Given the description of an element on the screen output the (x, y) to click on. 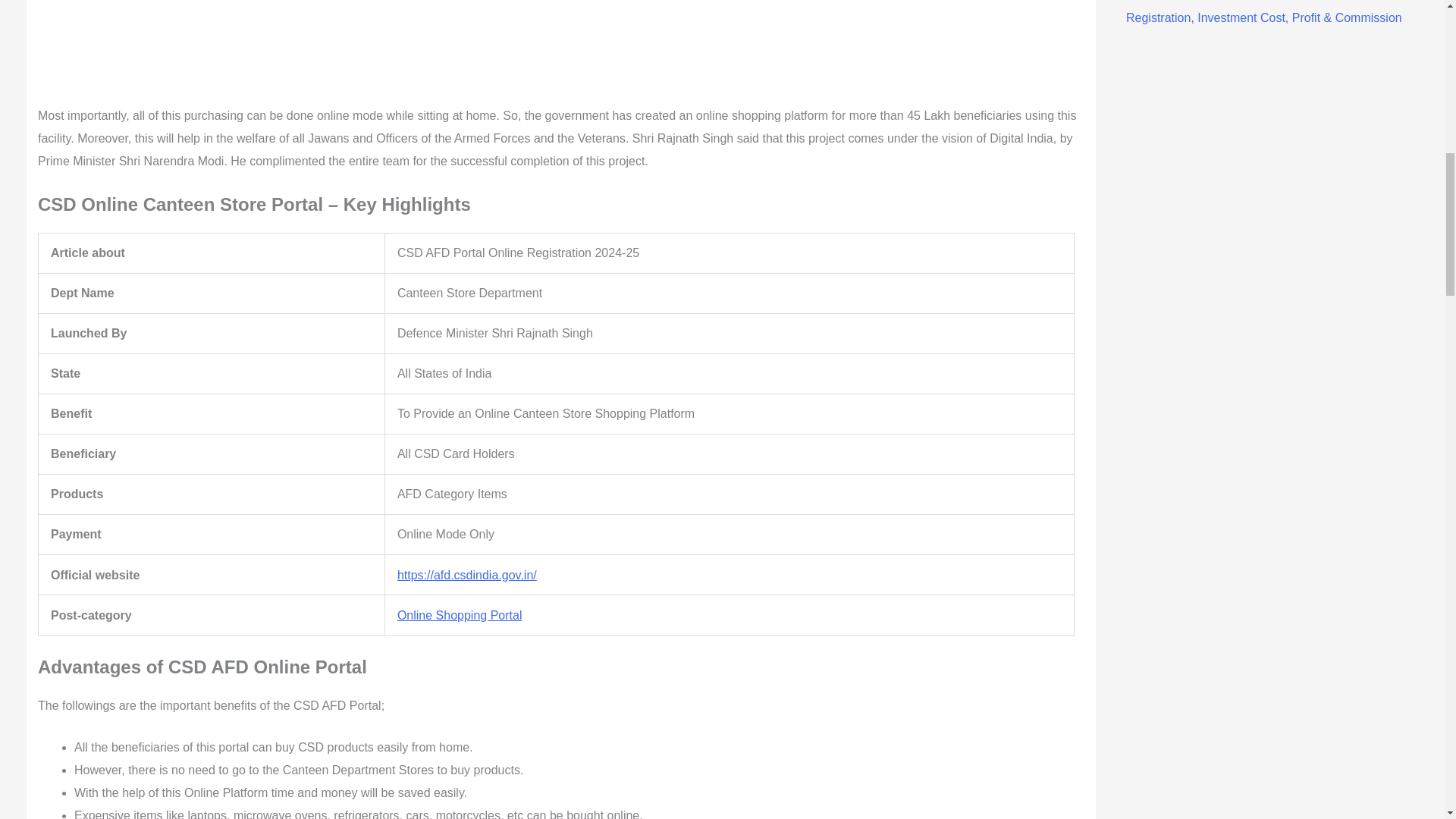
Online Shopping Portal (459, 615)
